Given the description of an element on the screen output the (x, y) to click on. 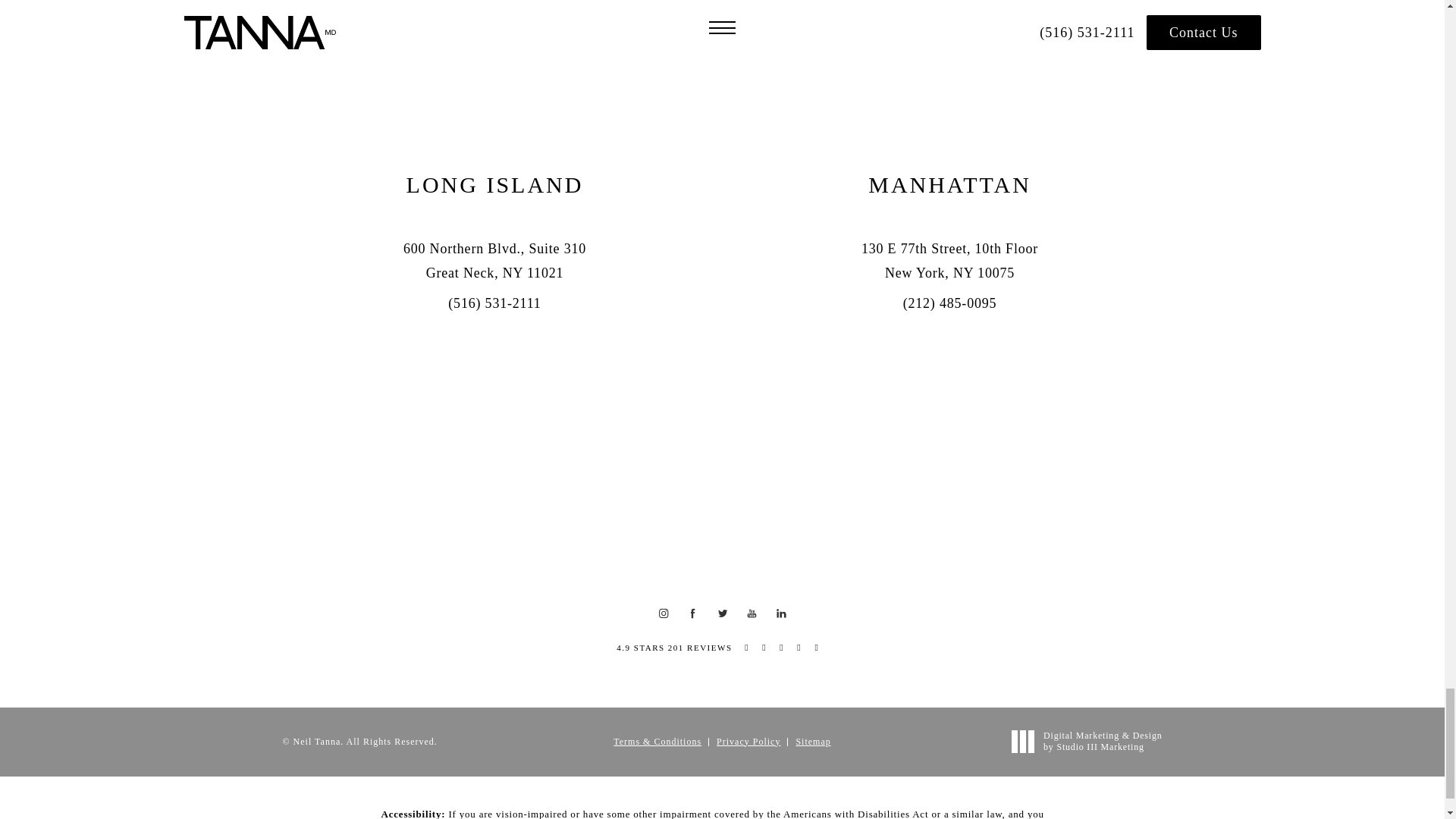
Neil Tanna on Facebook (693, 614)
Neil Tanna on Instagram (664, 614)
